Given the description of an element on the screen output the (x, y) to click on. 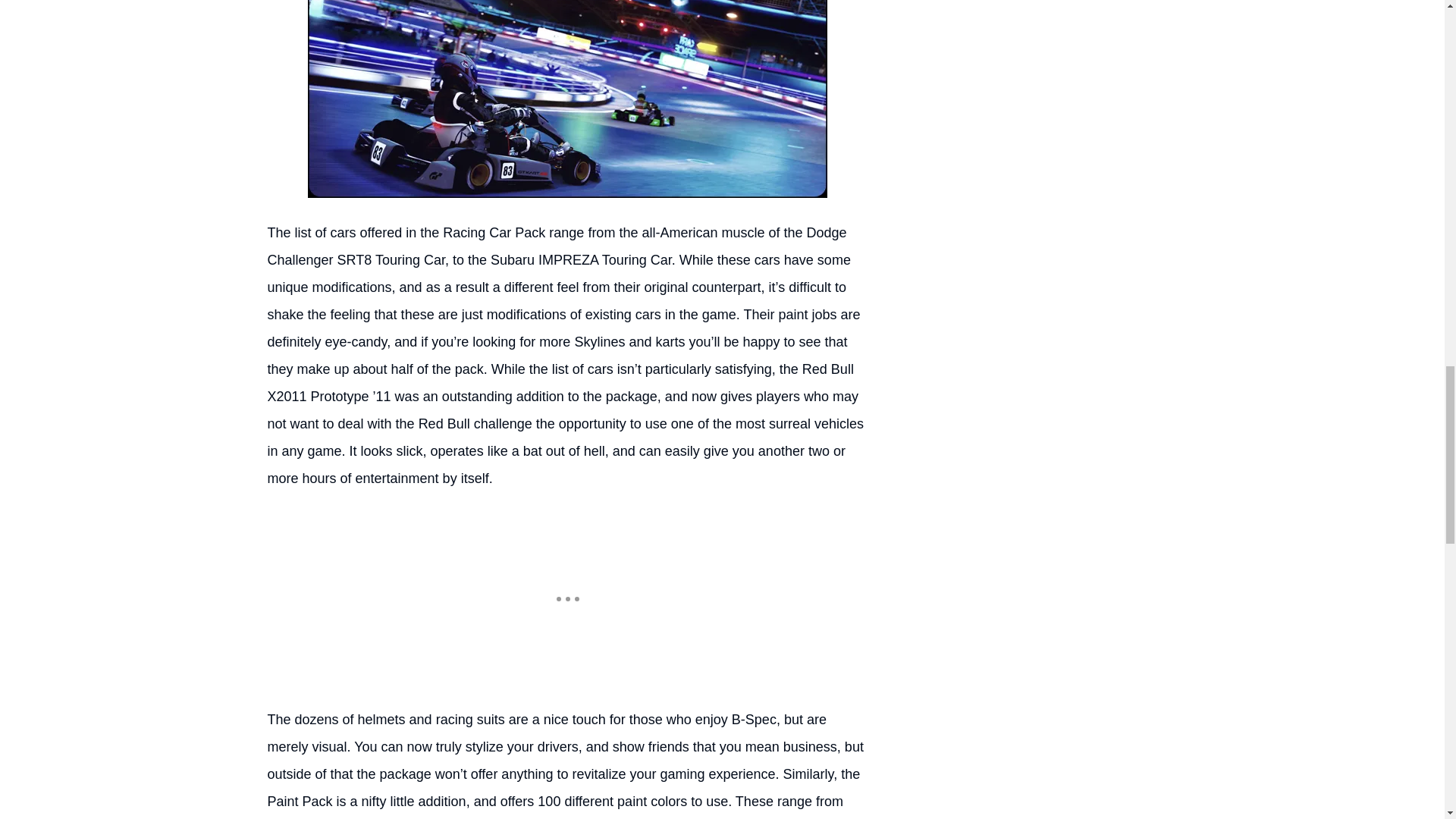
feature-GranTurismo5-DLC-Space-Review (567, 99)
